Given the description of an element on the screen output the (x, y) to click on. 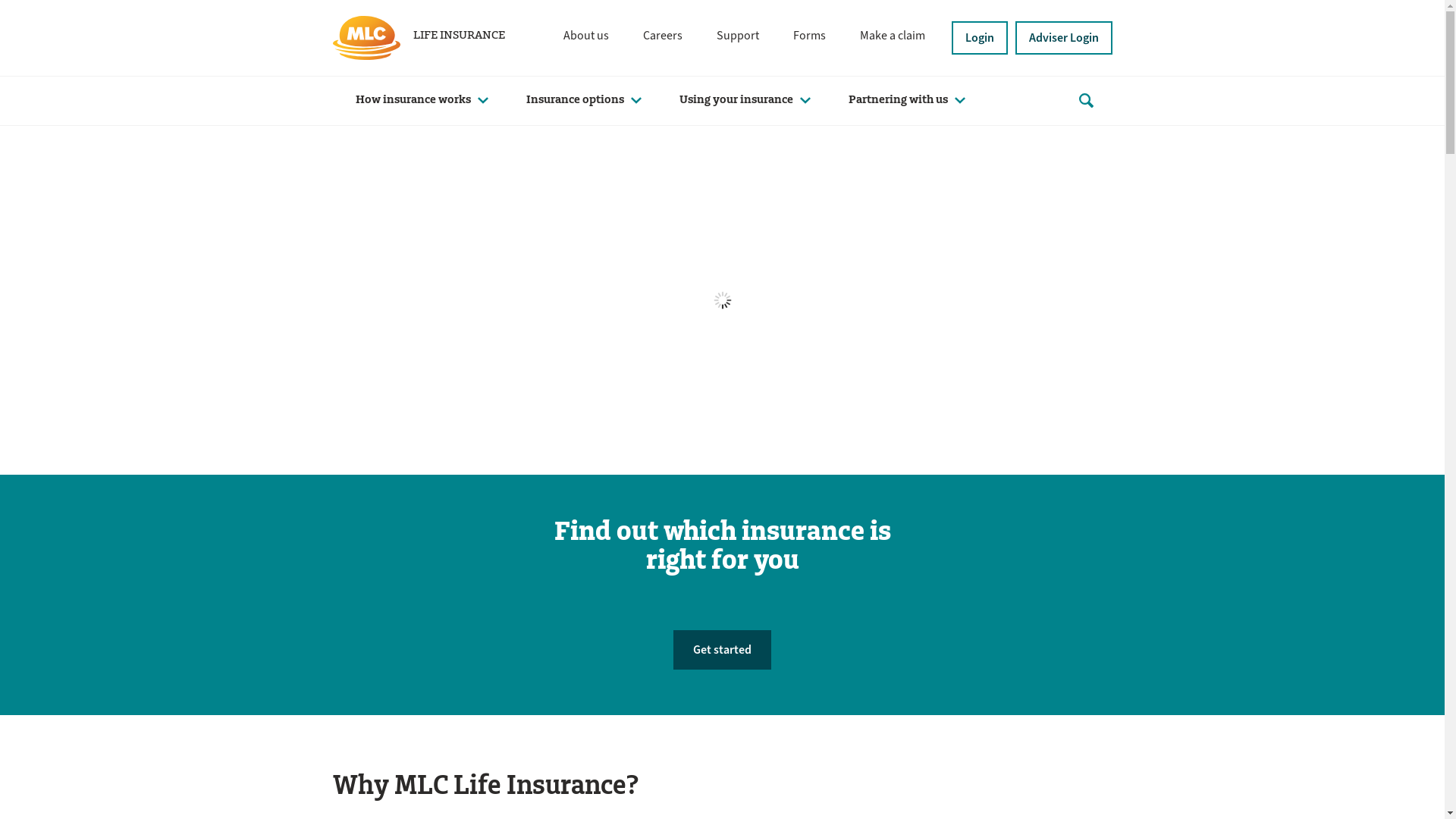
About us Element type: text (585, 35)
Adviser Login Element type: text (1062, 37)
Toggle search Element type: text (1086, 100)
Get started Element type: text (722, 649)
Careers Element type: text (662, 35)
Support Element type: text (736, 35)
Using your insurance Element type: text (740, 100)
How insurance works Element type: text (417, 100)
Insurance options Element type: text (579, 100)
Login Element type: text (978, 37)
Partnering with us Element type: text (902, 100)
Forms Element type: text (809, 35)
Learn more Element type: text (381, 309)
Make a claim Element type: text (892, 35)
